Given the description of an element on the screen output the (x, y) to click on. 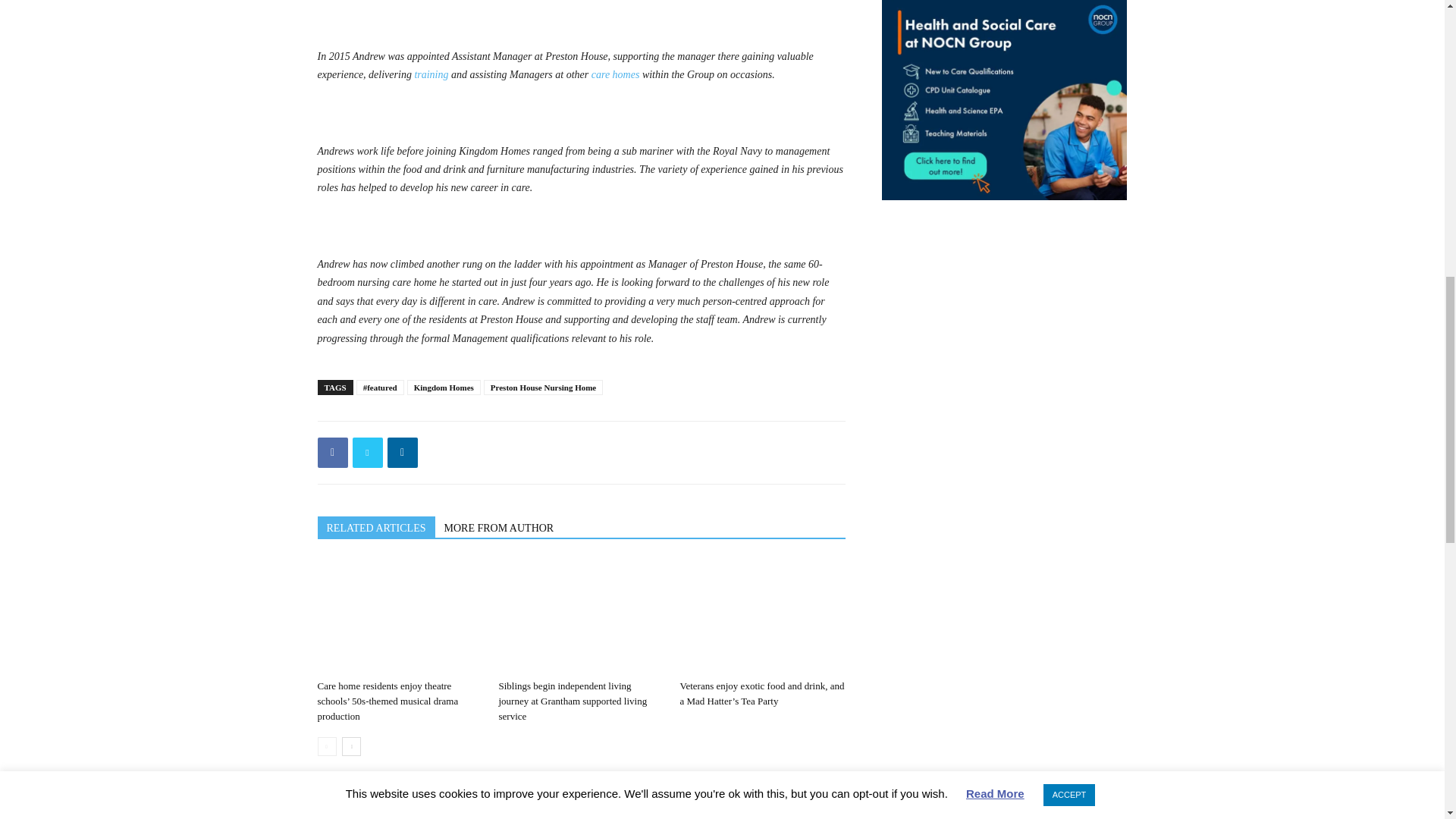
Twitter (366, 452)
Kingdom Homes (443, 387)
training (430, 74)
Linkedin (401, 452)
care homes (615, 74)
Preston House Nursing Home (542, 387)
Facebook (332, 452)
